Given the description of an element on the screen output the (x, y) to click on. 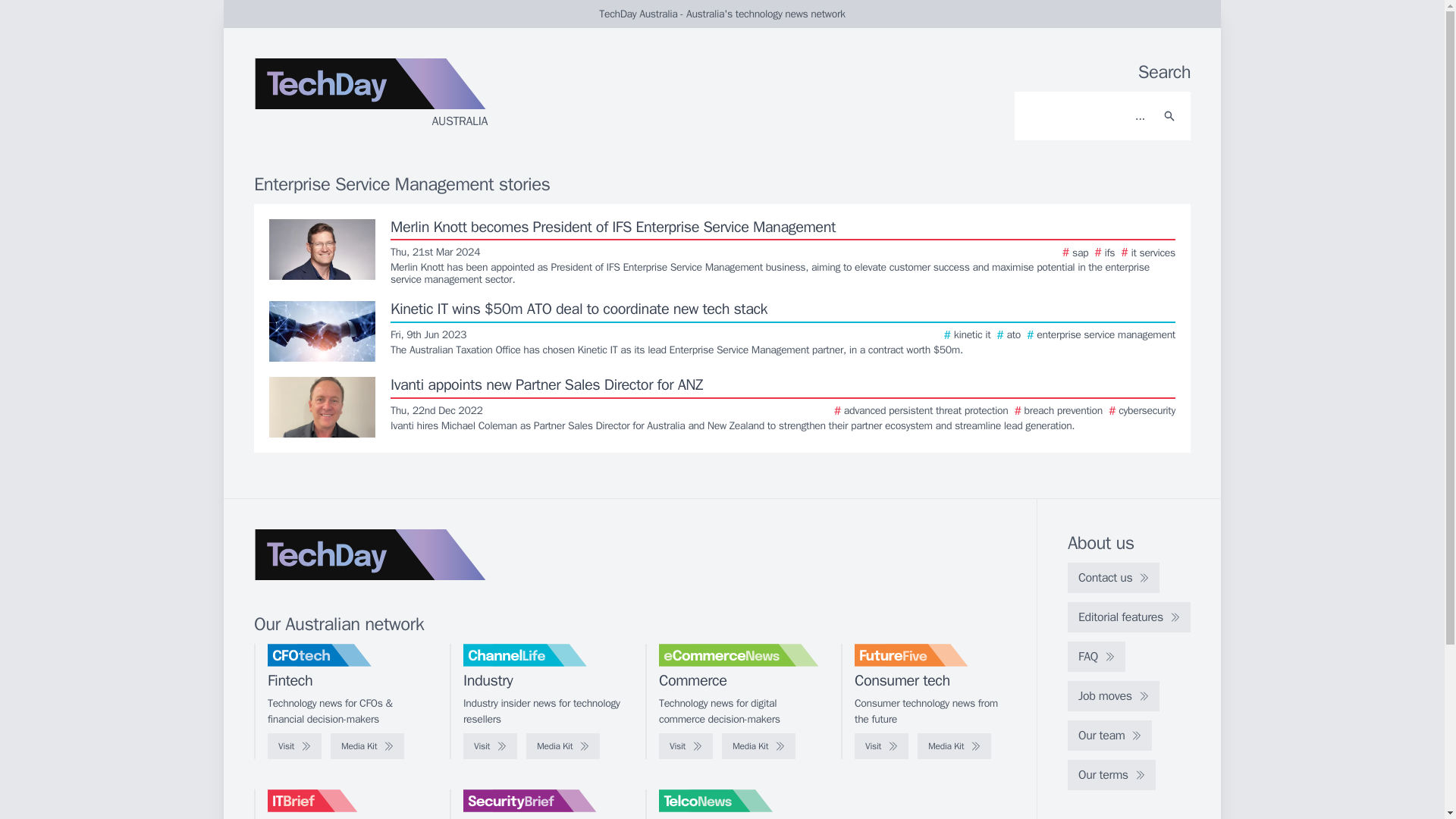
Our terms (1111, 775)
Visit (881, 746)
Media Kit (562, 746)
Media Kit (367, 746)
Our team (1109, 735)
Contact us (1112, 577)
AUSTRALIA (435, 99)
FAQ (1096, 656)
Visit (686, 746)
Job moves (1112, 695)
Media Kit (758, 746)
Media Kit (954, 746)
Visit (489, 746)
Visit (294, 746)
Editorial features (1129, 616)
